Given the description of an element on the screen output the (x, y) to click on. 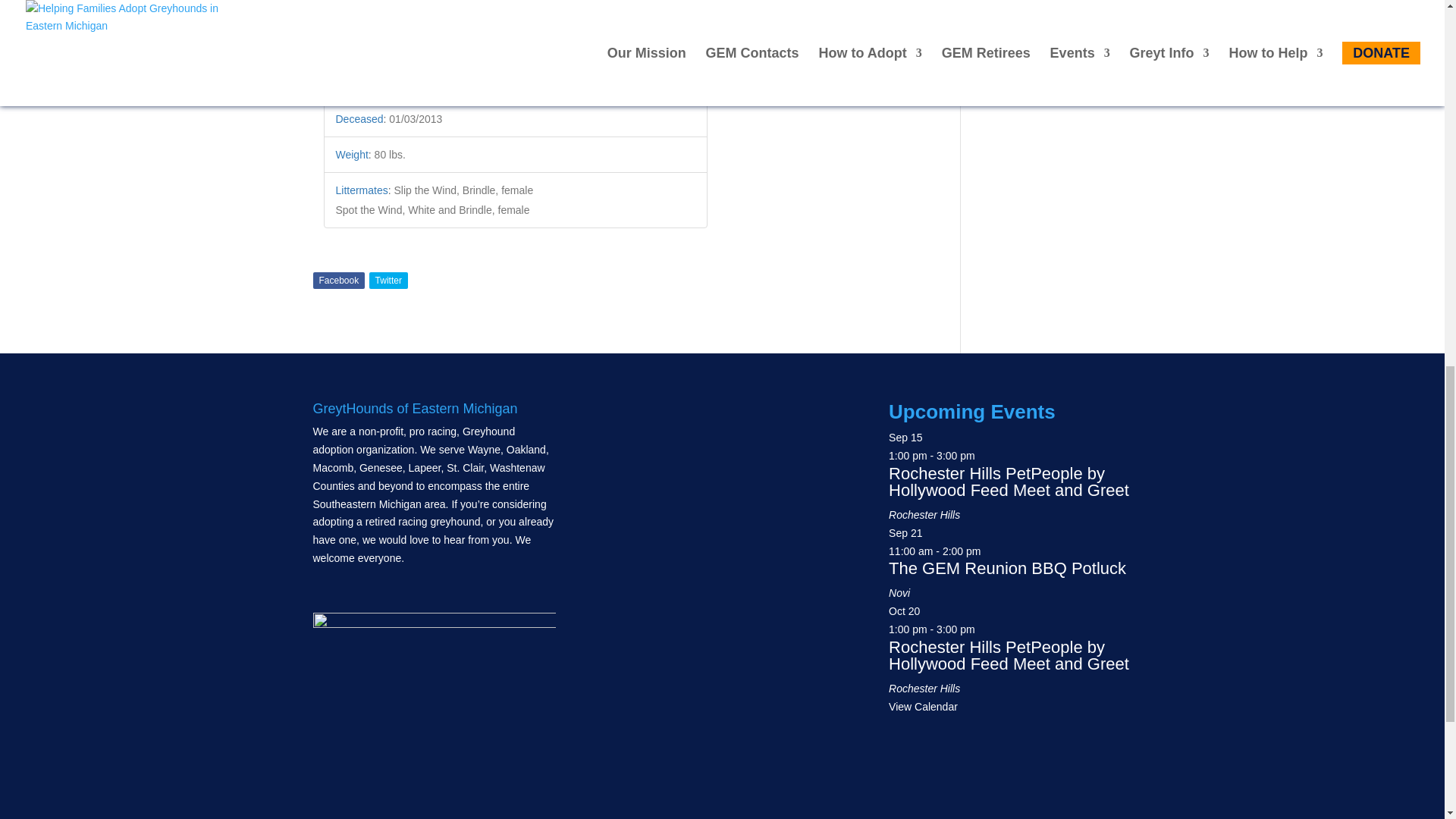
Rochester Hills PetPeople by Hollywood Feed Meet and Greet (1008, 655)
Twitter (388, 280)
View Calendar (923, 706)
Rochester Hills PetPeople by Hollywood Feed Meet and Greet (1008, 655)
Facebook (339, 280)
The GEM Reunion BBQ Potluck (1006, 568)
The GEM Reunion BBQ Potluck (1006, 568)
Rochester Hills PetPeople by Hollywood Feed Meet and Greet (1008, 481)
View more events. (923, 706)
Rochester Hills PetPeople by Hollywood Feed Meet and Greet (1008, 481)
